Given the description of an element on the screen output the (x, y) to click on. 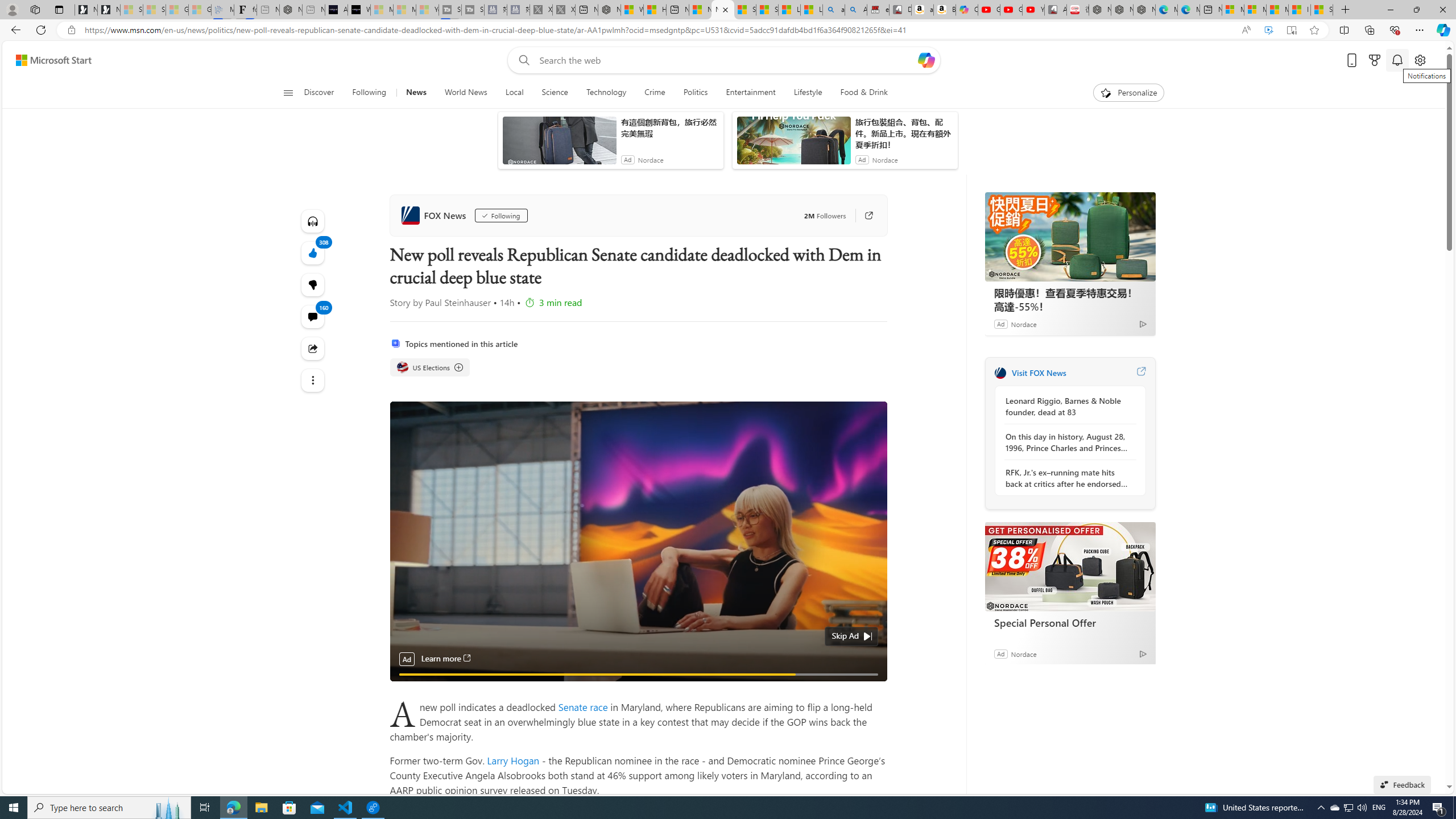
Crime (655, 92)
Special Personal Offer (1069, 622)
308 Like (312, 252)
Go to publisher's site (863, 215)
Streaming Coverage | T3 - Sleeping (449, 9)
Pause (406, 687)
Ad Choice (1142, 653)
Food & Drink (864, 92)
See more (312, 380)
